Given the description of an element on the screen output the (x, y) to click on. 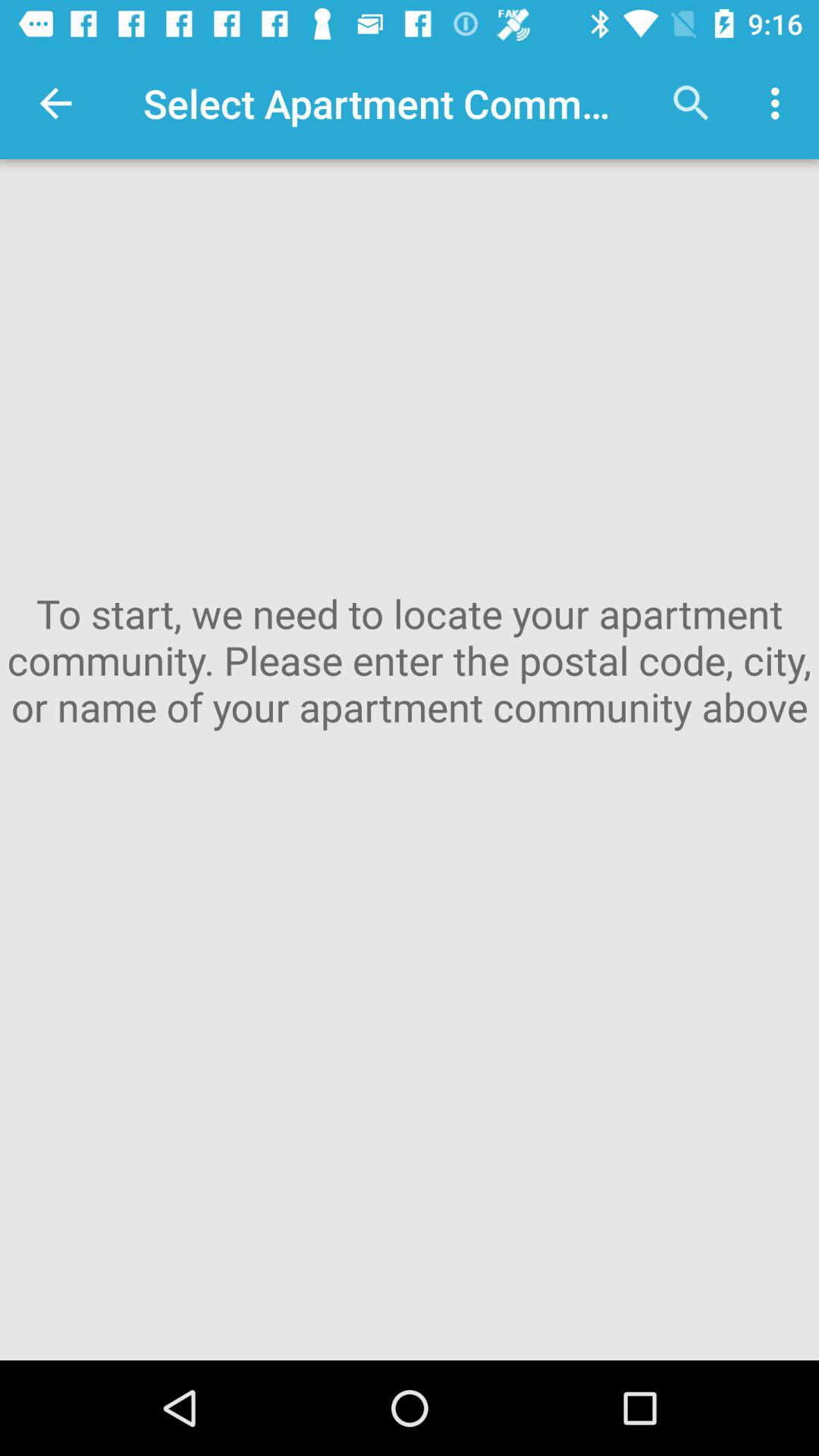
press icon at the top left corner (55, 103)
